Given the description of an element on the screen output the (x, y) to click on. 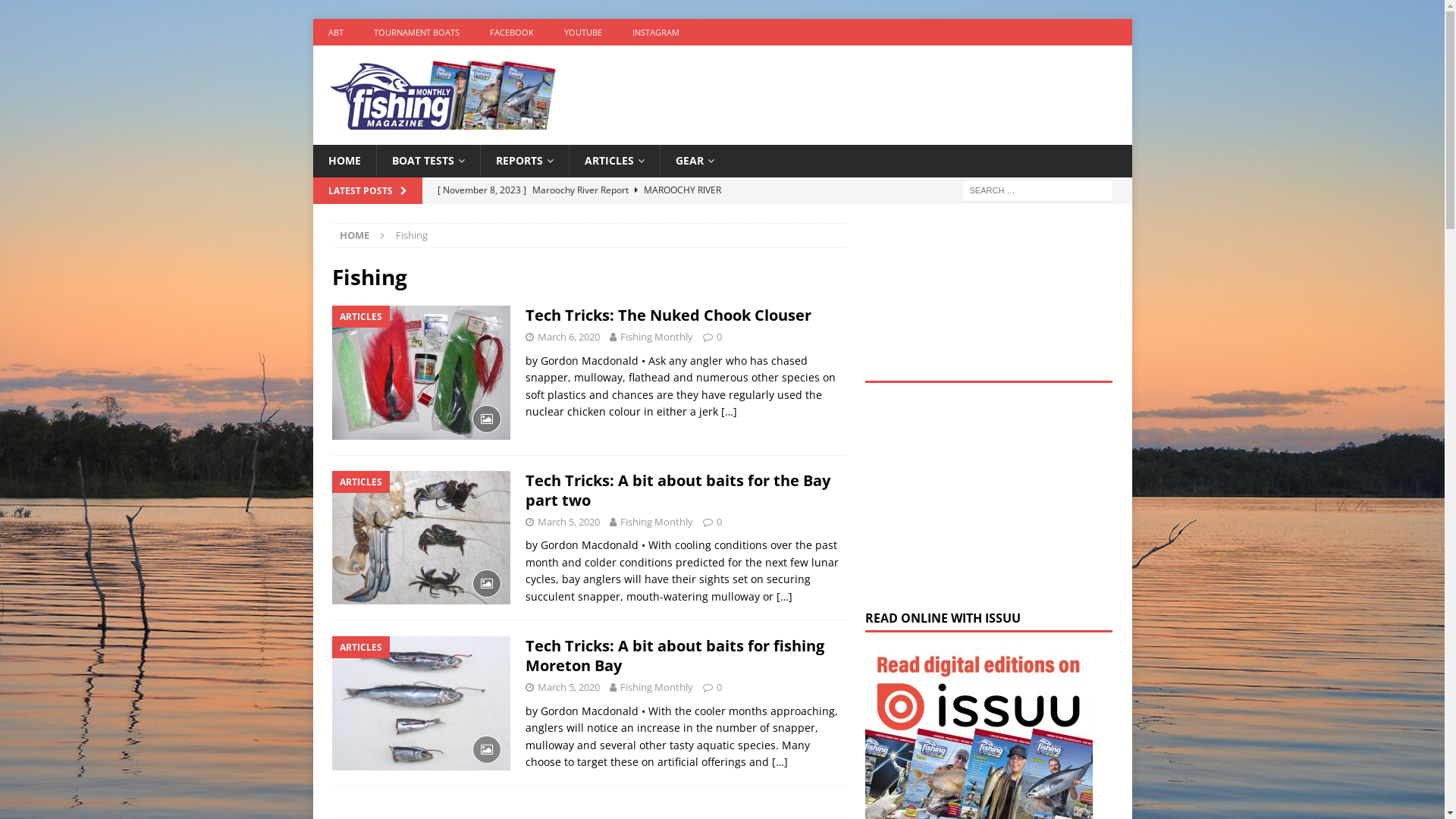
Fishing Monthly Element type: text (656, 336)
GEAR Element type: text (694, 160)
Search Element type: text (56, 11)
Fishing Monthly Element type: text (656, 686)
BOAT TESTS Element type: text (428, 160)
Fishing Monthly Element type: text (656, 521)
REPORTS Element type: text (523, 160)
YOUTUBE Element type: text (583, 31)
March 5, 2020 Element type: text (567, 521)
Moreton Bay report Element type: hover (636, 216)
0 Element type: text (718, 686)
ARTICLES Element type: text (613, 160)
Tech Tricks: A bit about baits for the Bay part two Element type: text (676, 490)
March 6, 2020 Element type: text (567, 336)
[ October 30, 2023 ] Moreton Bay reports 2023 FEATURE Element type: text (636, 190)
TOURNAMENT BOATS Element type: text (415, 31)
Tech Tricks: A bit about baits for fishing Moreton Bay Element type: text (673, 655)
March 5, 2020 Element type: text (567, 686)
0 Element type: text (718, 521)
Tech Tricks: The Nuked Chook Clouser Element type: text (667, 314)
0 Element type: text (718, 336)
ABT Element type: text (334, 31)
FACEBOOK Element type: text (511, 31)
INSTAGRAM Element type: text (655, 31)
HOME Element type: text (354, 234)
HOME Element type: text (343, 160)
Advertisement Element type: hover (988, 496)
